Given the description of an element on the screen output the (x, y) to click on. 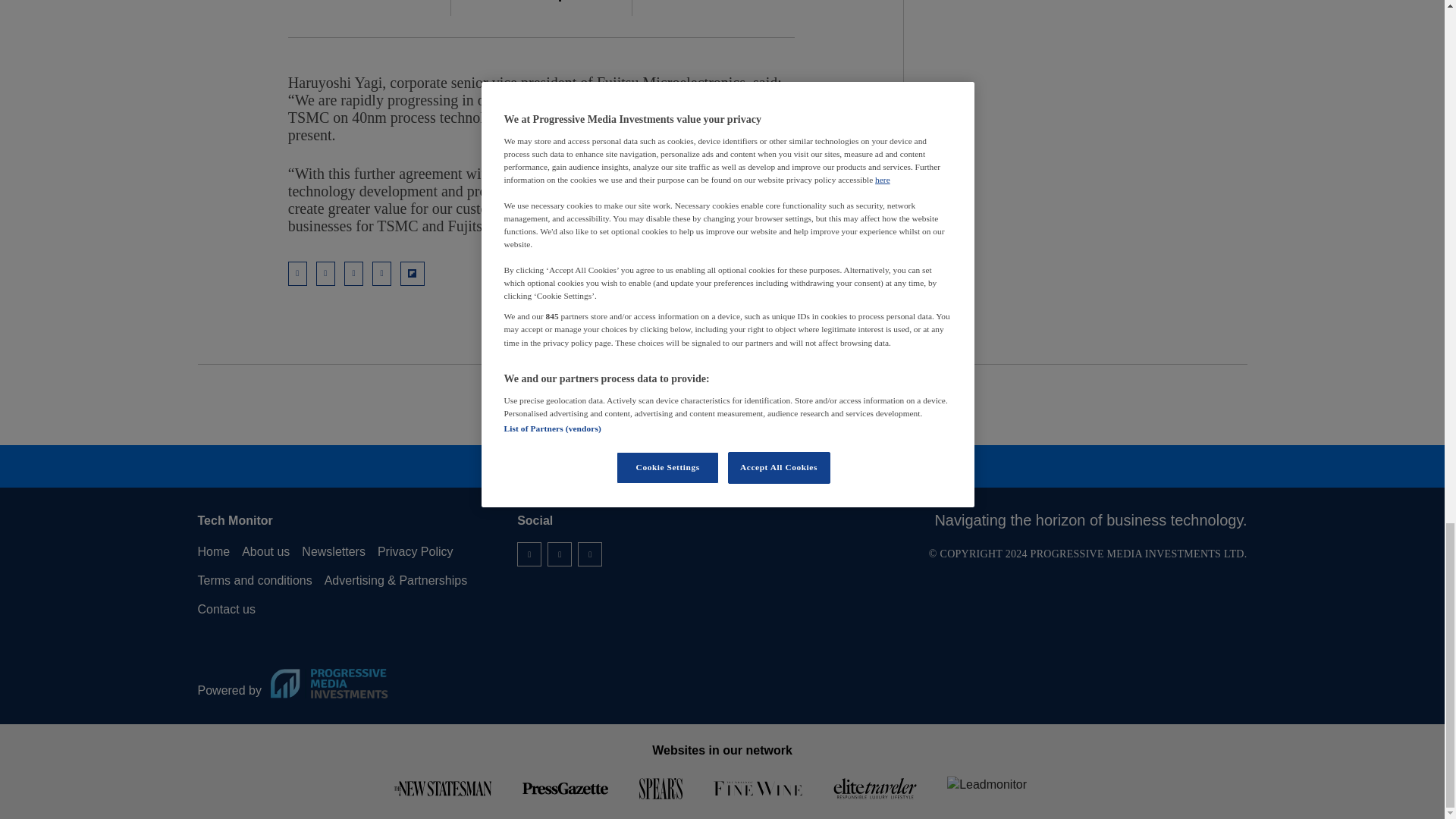
Share on Flipboard (412, 273)
